Given the description of an element on the screen output the (x, y) to click on. 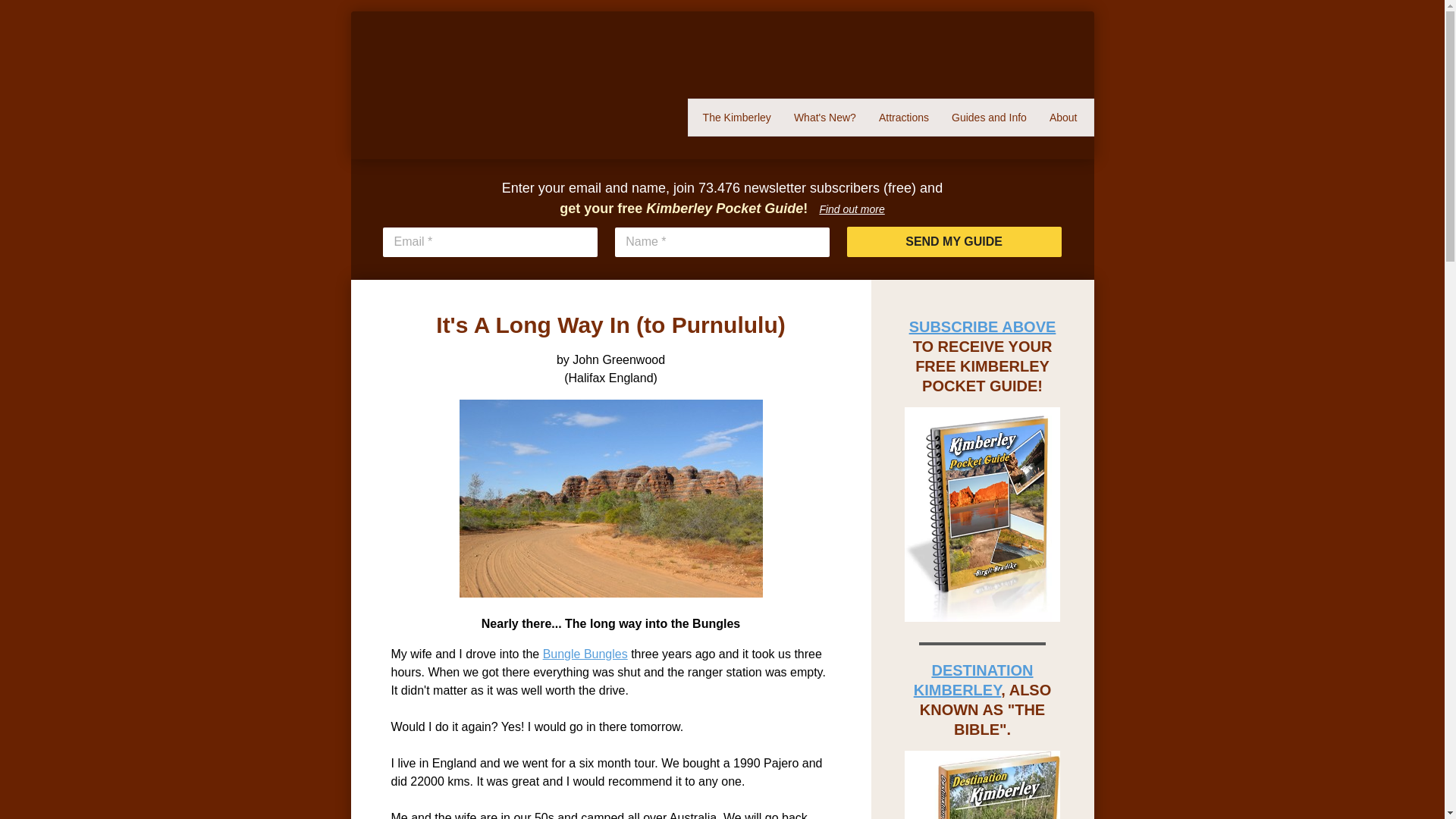
Go to FREE Kimberley Travel Guide (982, 617)
Find out more (850, 209)
What's New? (825, 117)
1 (688, 52)
The Kimberley (738, 117)
Send my Guide (954, 241)
Nearly there... The long way into the Bungles (611, 498)
Bungle Bungles (585, 653)
